Given the description of an element on the screen output the (x, y) to click on. 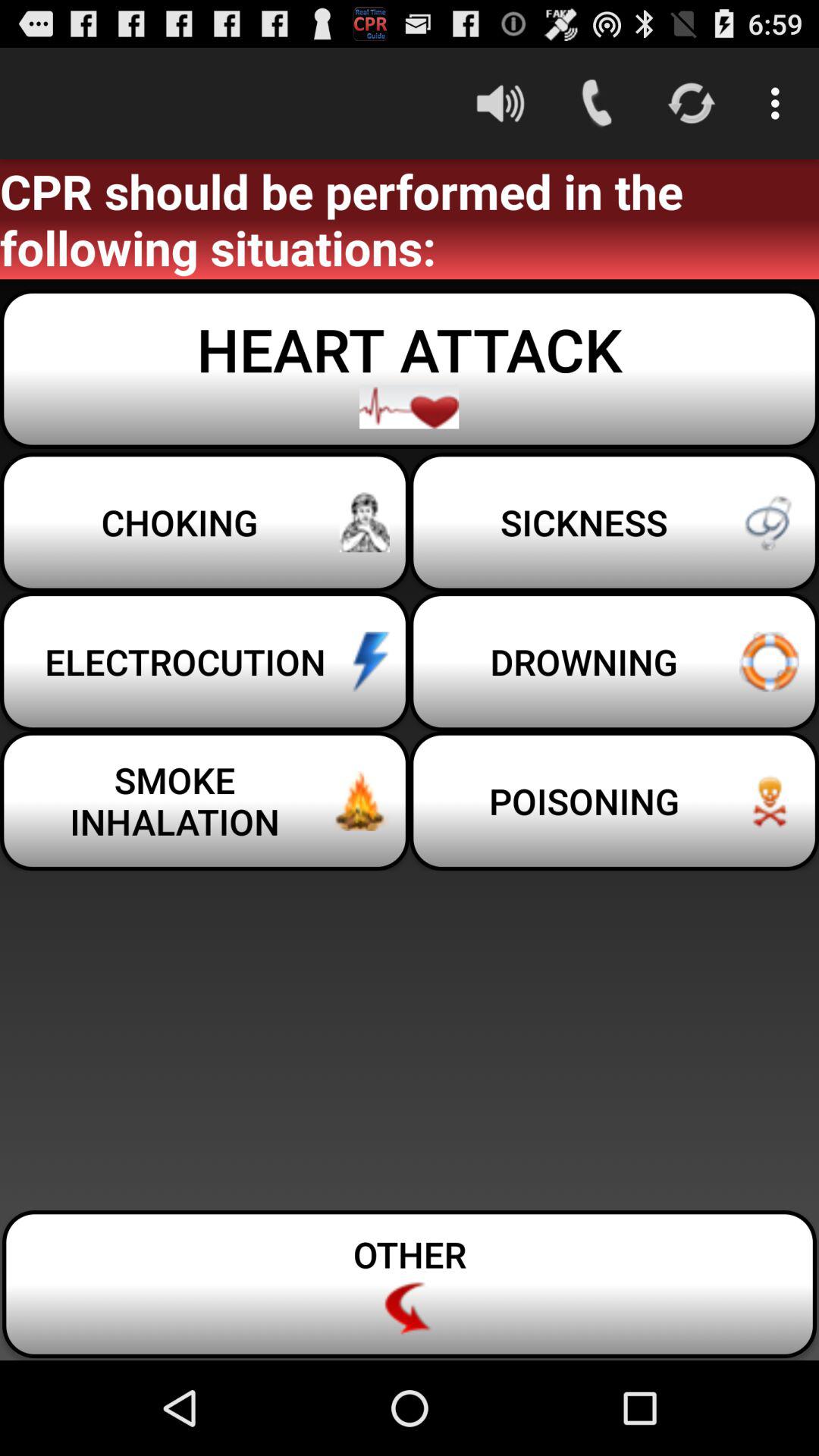
jump to the smoke inhalation icon (204, 800)
